Given the description of an element on the screen output the (x, y) to click on. 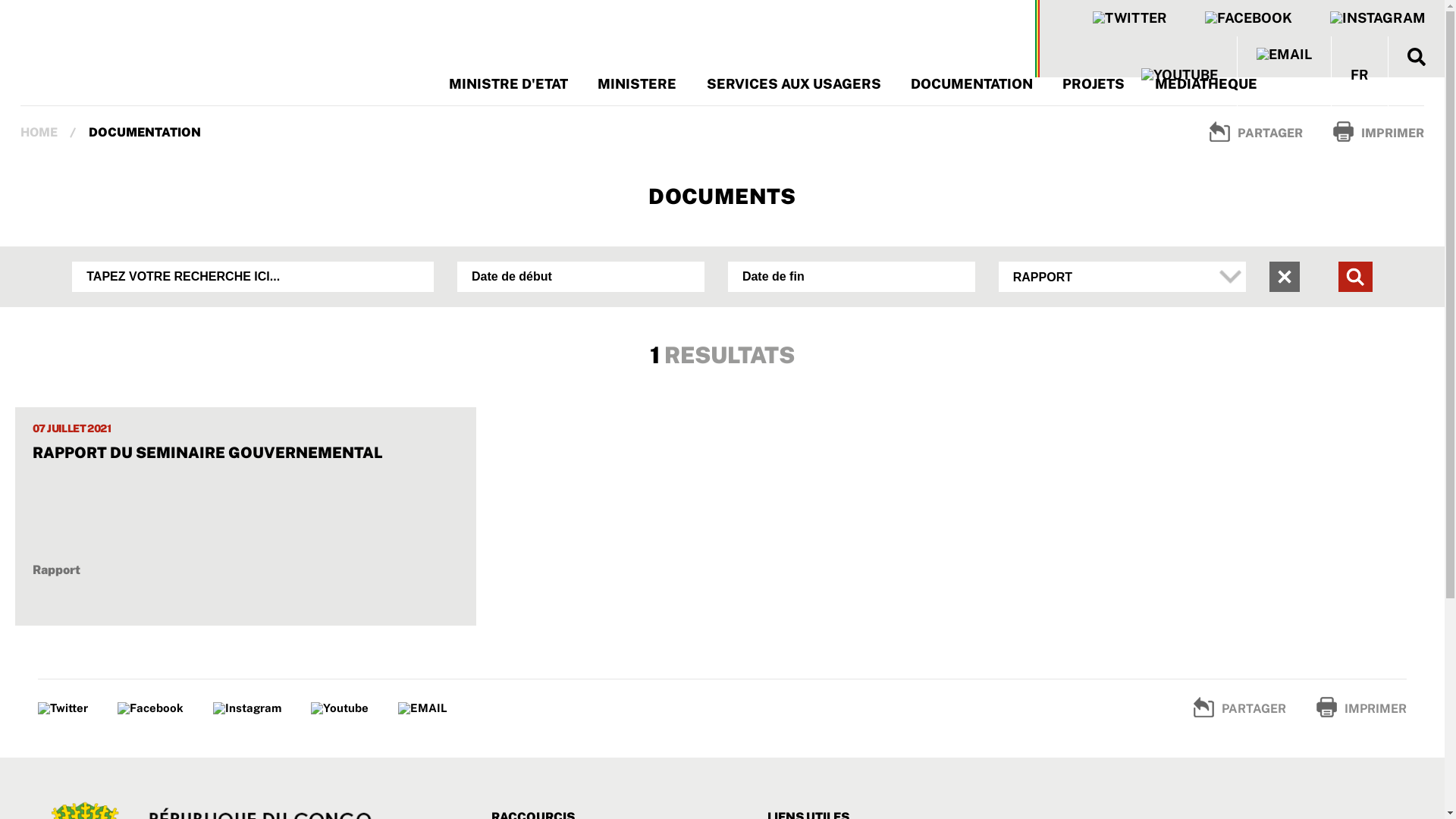
MINISTERE Element type: text (636, 83)
PROJETS Element type: text (1093, 83)
PARTAGER Element type: text (1239, 706)
IMPRIMER Element type: text (1361, 706)
Aller au contenu principal Element type: text (0, 0)
DOCUMENTATION Element type: text (971, 83)
FR Element type: text (1359, 74)
MEDIATHEQUE Element type: text (1205, 83)
MINISTRE D'ETAT Element type: text (507, 83)
PARTAGER Element type: text (1255, 131)
IMPRIMER Element type: text (1378, 131)
Apply Element type: text (1355, 276)
SERVICES AUX USAGERS Element type: text (793, 83)
HOME Element type: text (38, 131)
07 JUILLET 2021
RAPPORT DU SEMINAIRE GOUVERNEMENTAL
Rapport Element type: text (245, 500)
